Given the description of an element on the screen output the (x, y) to click on. 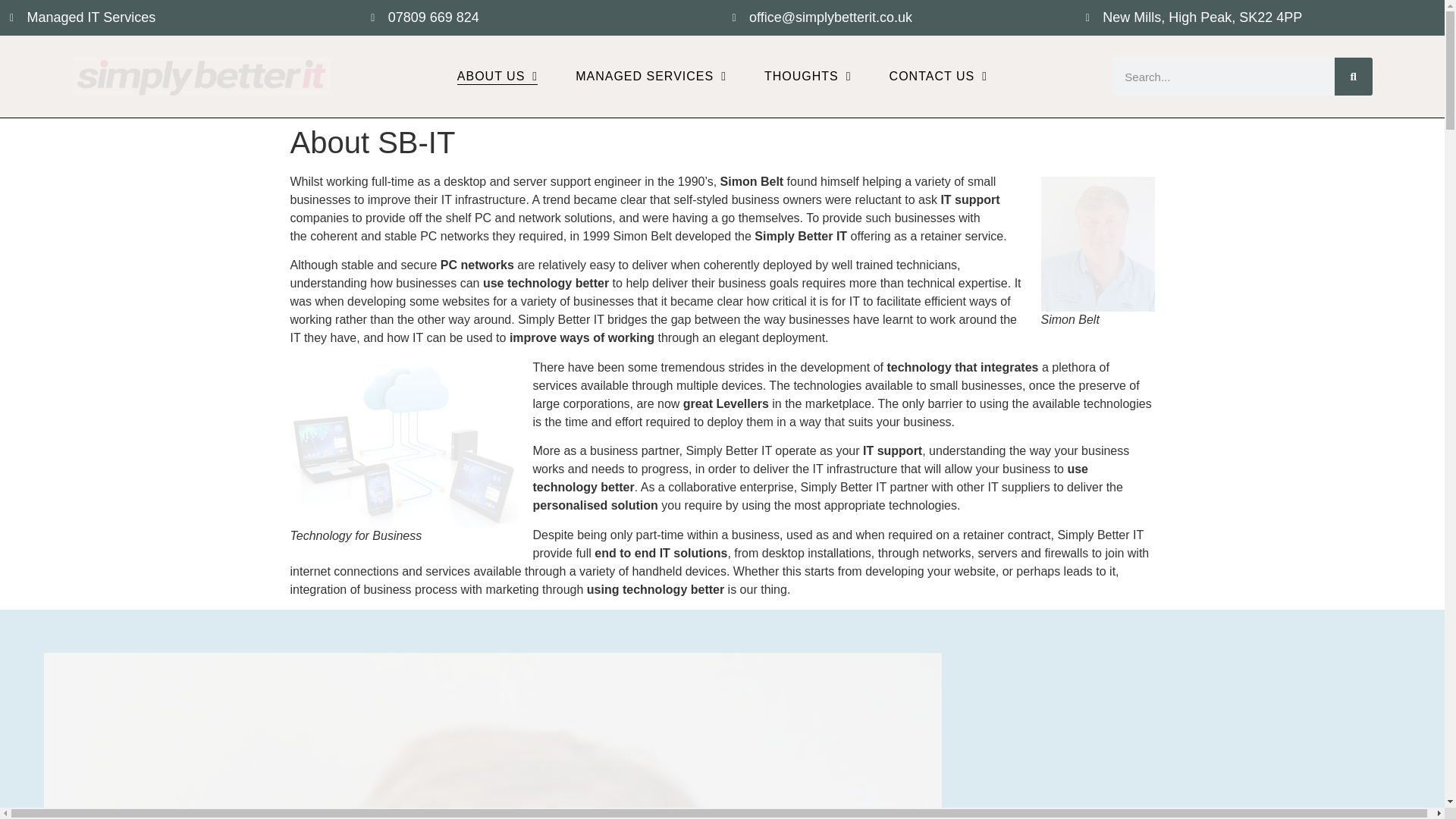
CONTACT US (938, 76)
ABOUT US (497, 76)
THOUGHTS (807, 76)
MANAGED SERVICES (650, 76)
